Given the description of an element on the screen output the (x, y) to click on. 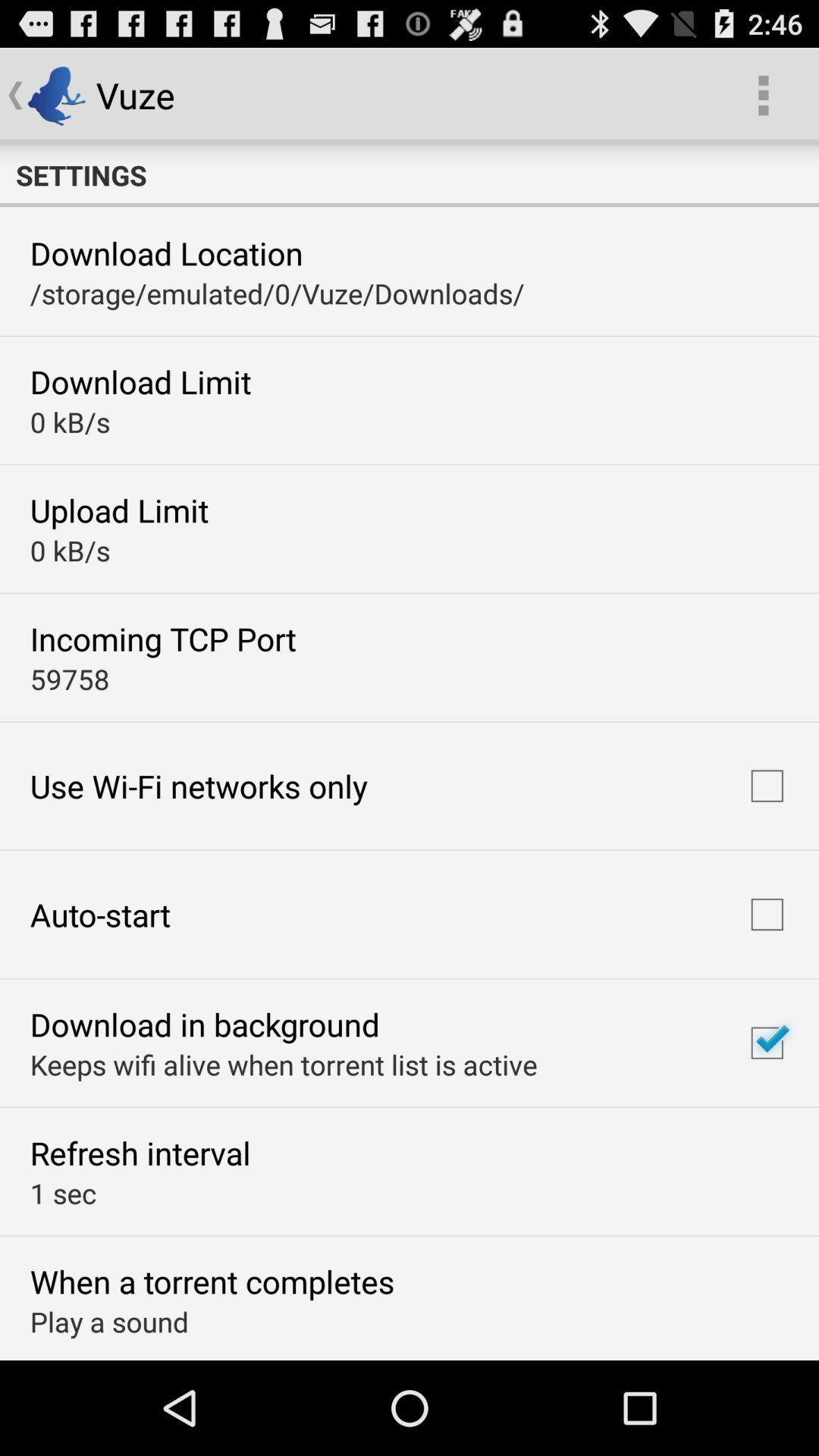
swipe until the download location (166, 252)
